Given the description of an element on the screen output the (x, y) to click on. 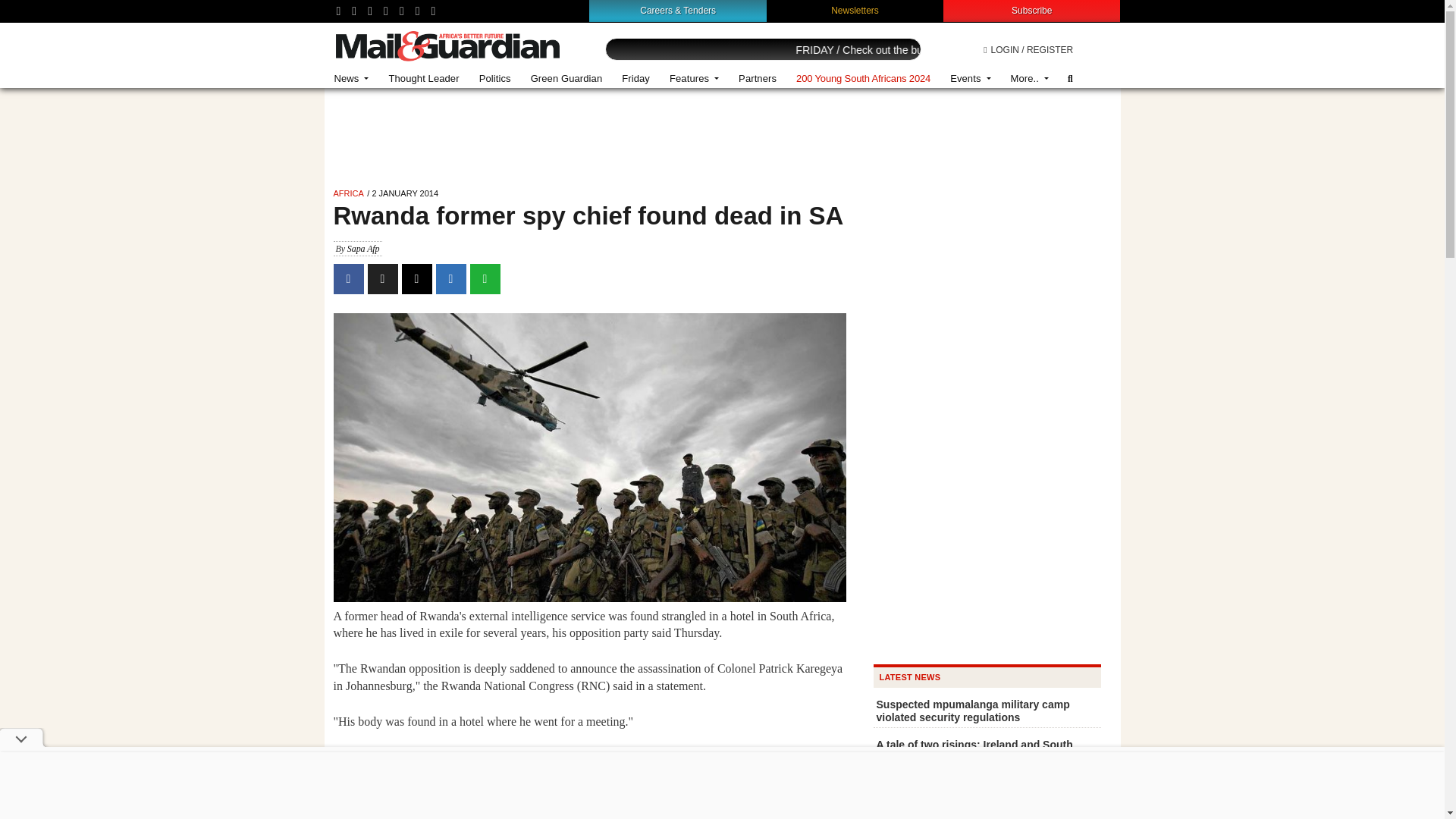
Politics (494, 78)
Green Guardian (566, 78)
Thought Leader (423, 78)
News (351, 78)
Subscribe (1031, 9)
Friday (635, 78)
News (351, 78)
Features (694, 78)
Newsletters (855, 9)
